Given the description of an element on the screen output the (x, y) to click on. 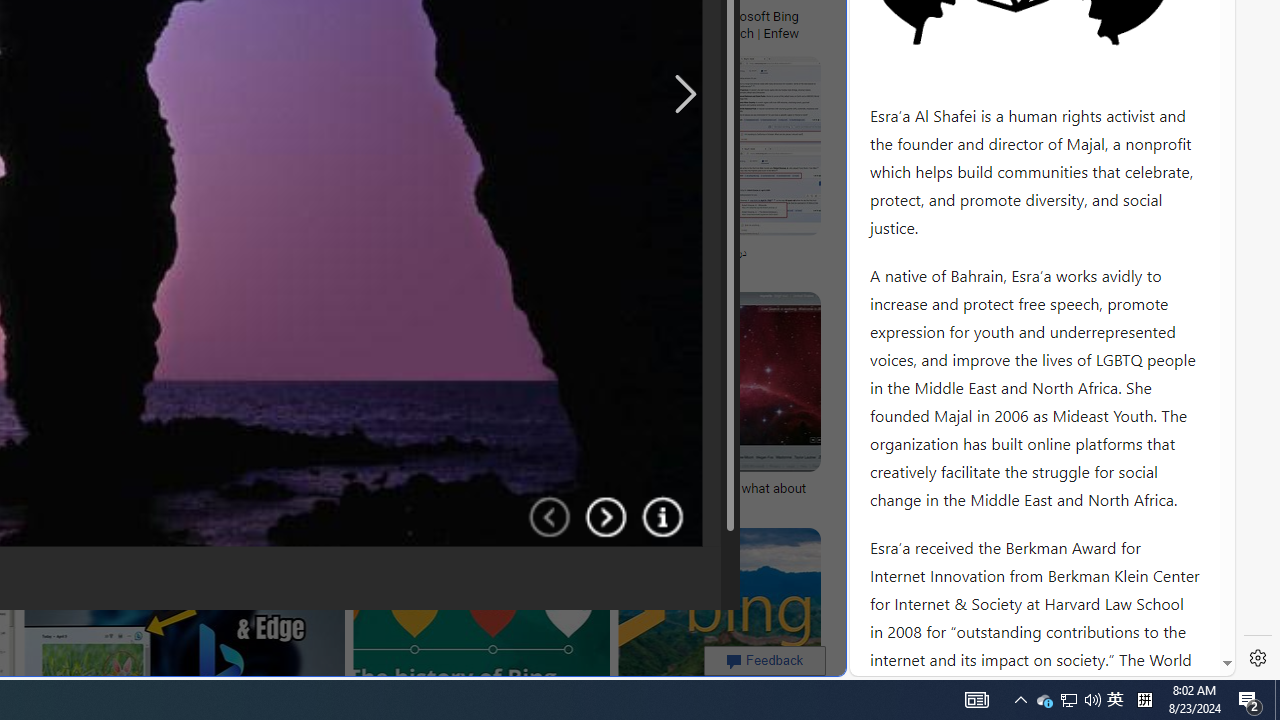
Bing (2009) (RARE/FAKE) - YouTubeSave (381, 169)
